Given the description of an element on the screen output the (x, y) to click on. 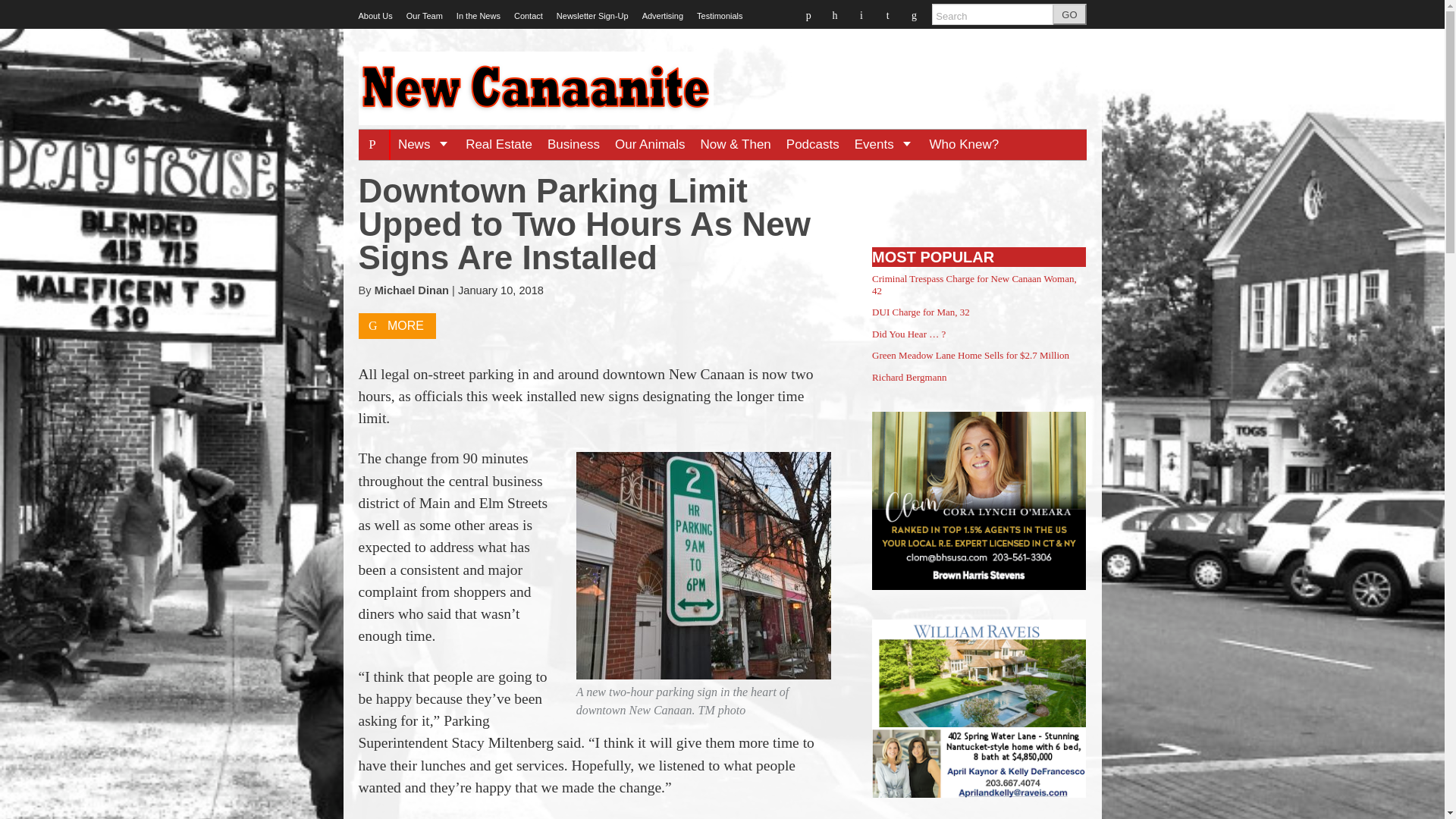
Contact (528, 15)
In the News (478, 15)
Link to Instagram Page (888, 14)
Link to Facebook Profile (808, 14)
Our Team (424, 15)
Link to YouTube Page (862, 14)
Link to Twitter Page (836, 14)
GO (1069, 14)
Link to RSS Feed (914, 14)
About Us (374, 15)
Newsletter Sign-Up (592, 15)
Advertising (662, 15)
Testimonials (719, 15)
